Given the description of an element on the screen output the (x, y) to click on. 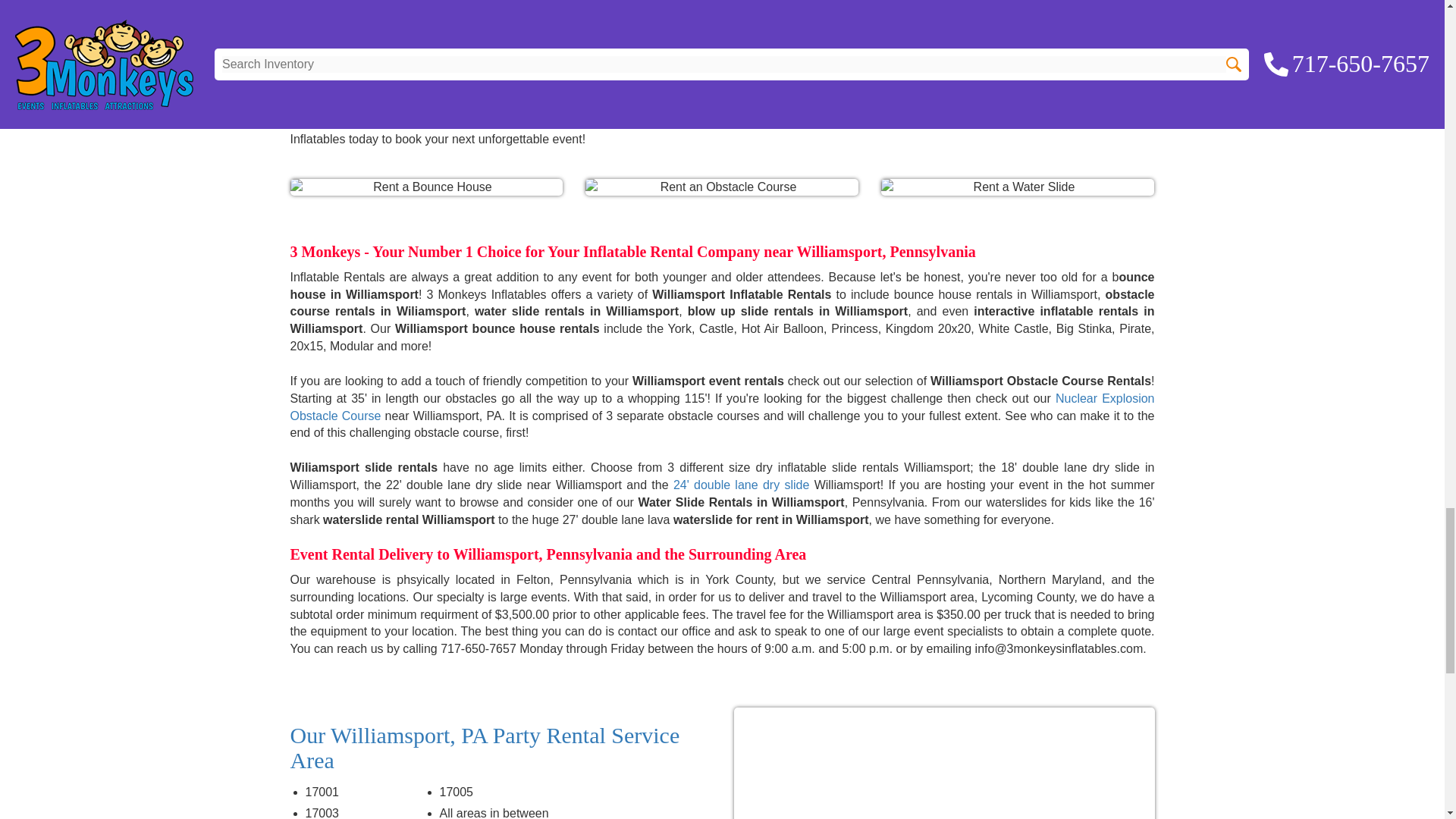
Rent a Bounce House (425, 187)
Rent a Water Slide (1017, 187)
Blow Up Slide Rentals (740, 484)
Nuclear Explosion Obstacle Course Renta (721, 407)
Rent an Obstacle Course (722, 187)
